Given the description of an element on the screen output the (x, y) to click on. 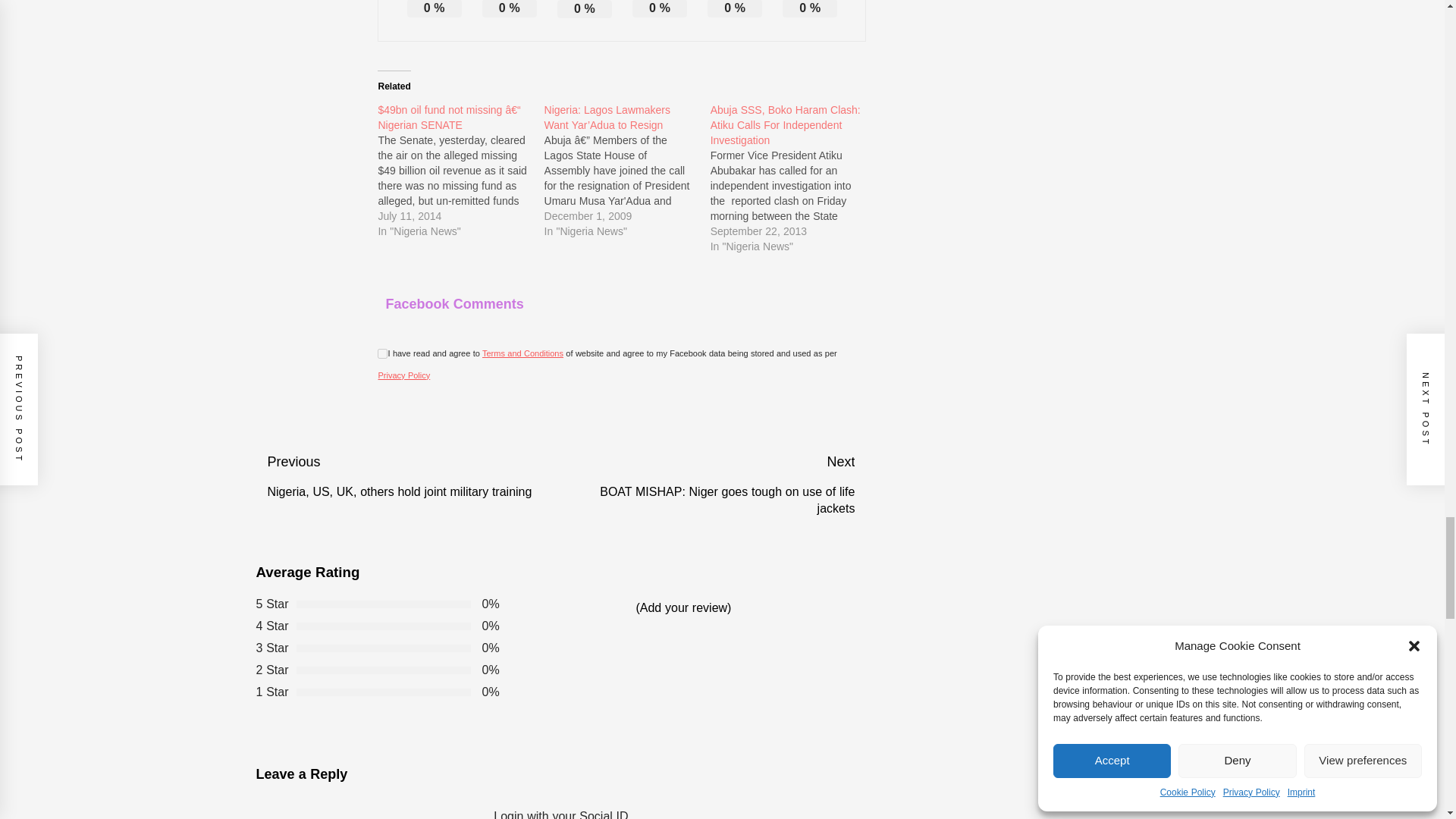
1 (382, 353)
